Given the description of an element on the screen output the (x, y) to click on. 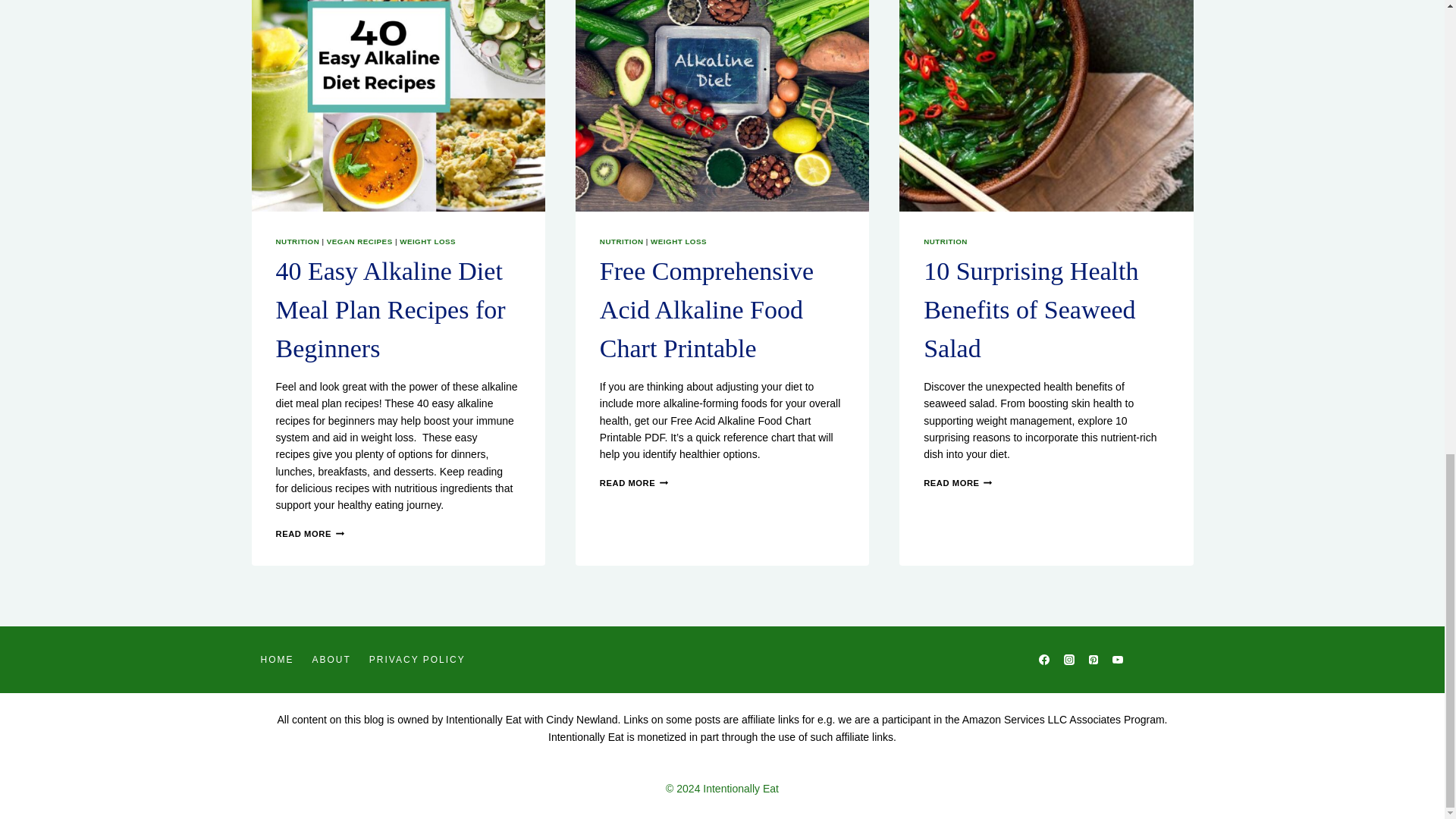
40 Easy Alkaline Diet Meal Plan Recipes for Beginners (390, 309)
VEGAN RECIPES (359, 241)
NUTRITION (298, 241)
WEIGHT LOSS (426, 241)
